Given the description of an element on the screen output the (x, y) to click on. 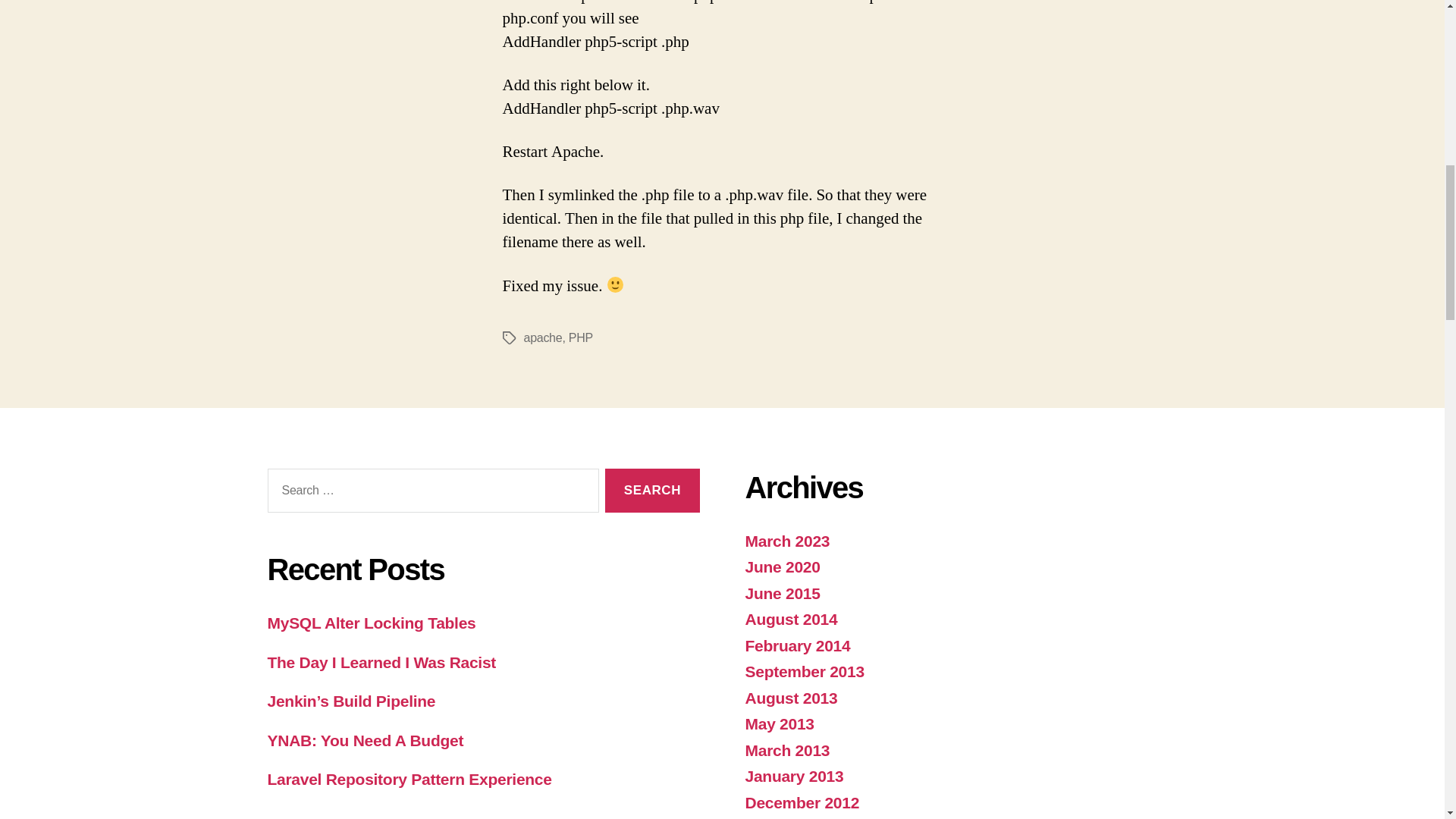
May 2013 (778, 723)
PHP (580, 337)
June 2015 (781, 592)
June 2020 (781, 566)
YNAB: You Need A Budget (364, 740)
September 2013 (803, 671)
February 2014 (797, 645)
The Day I Learned I Was Racist (381, 661)
Search (651, 490)
August 2013 (790, 697)
